Given the description of an element on the screen output the (x, y) to click on. 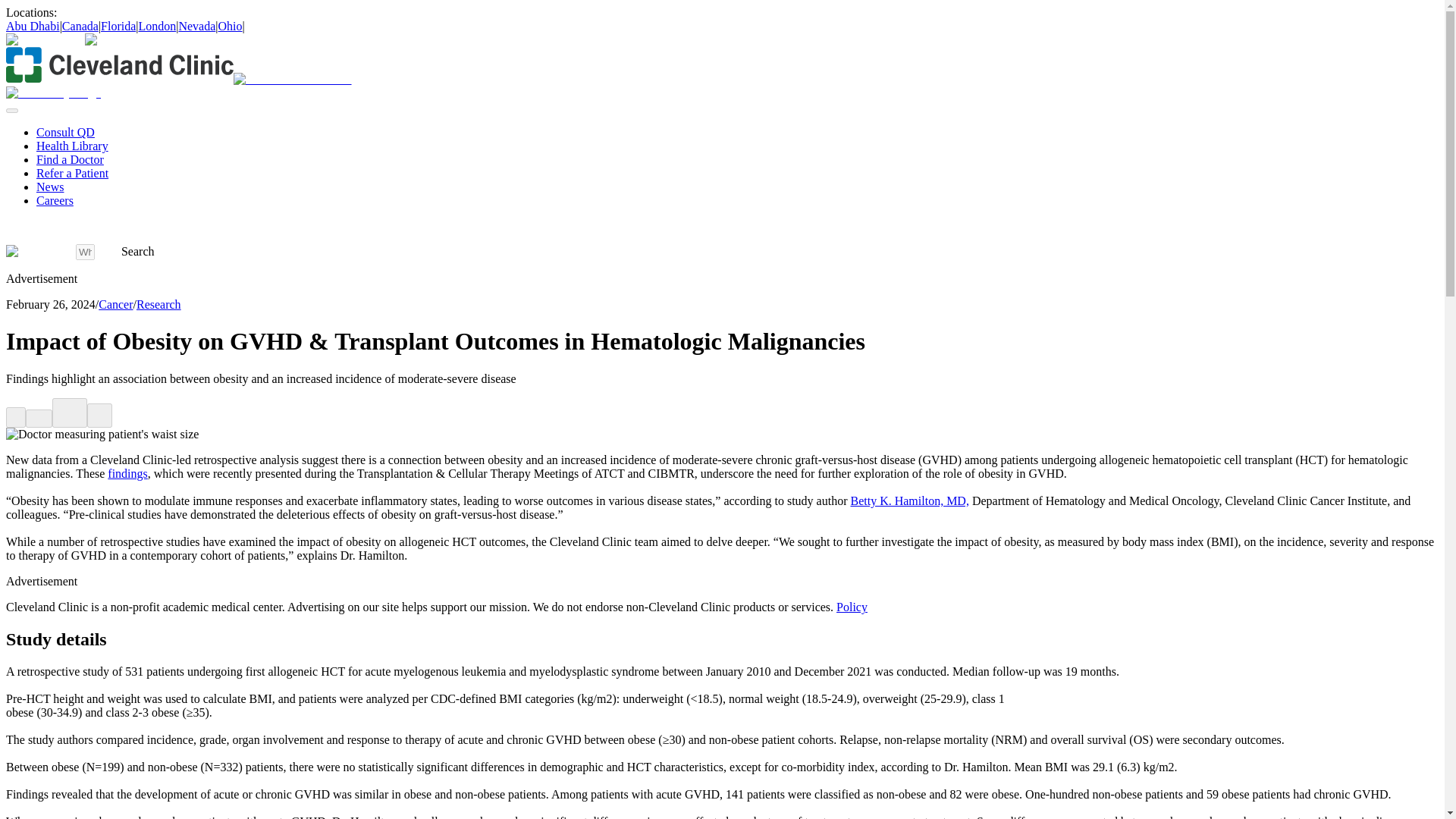
Careers (55, 200)
Health Library (71, 145)
findings (127, 472)
Betty K. Hamilton, MD, (909, 500)
Policy (851, 606)
Cancer (115, 304)
Abu Dhabi (32, 25)
Find a Doctor (69, 159)
Nevada (196, 25)
Florida (117, 25)
